Given the description of an element on the screen output the (x, y) to click on. 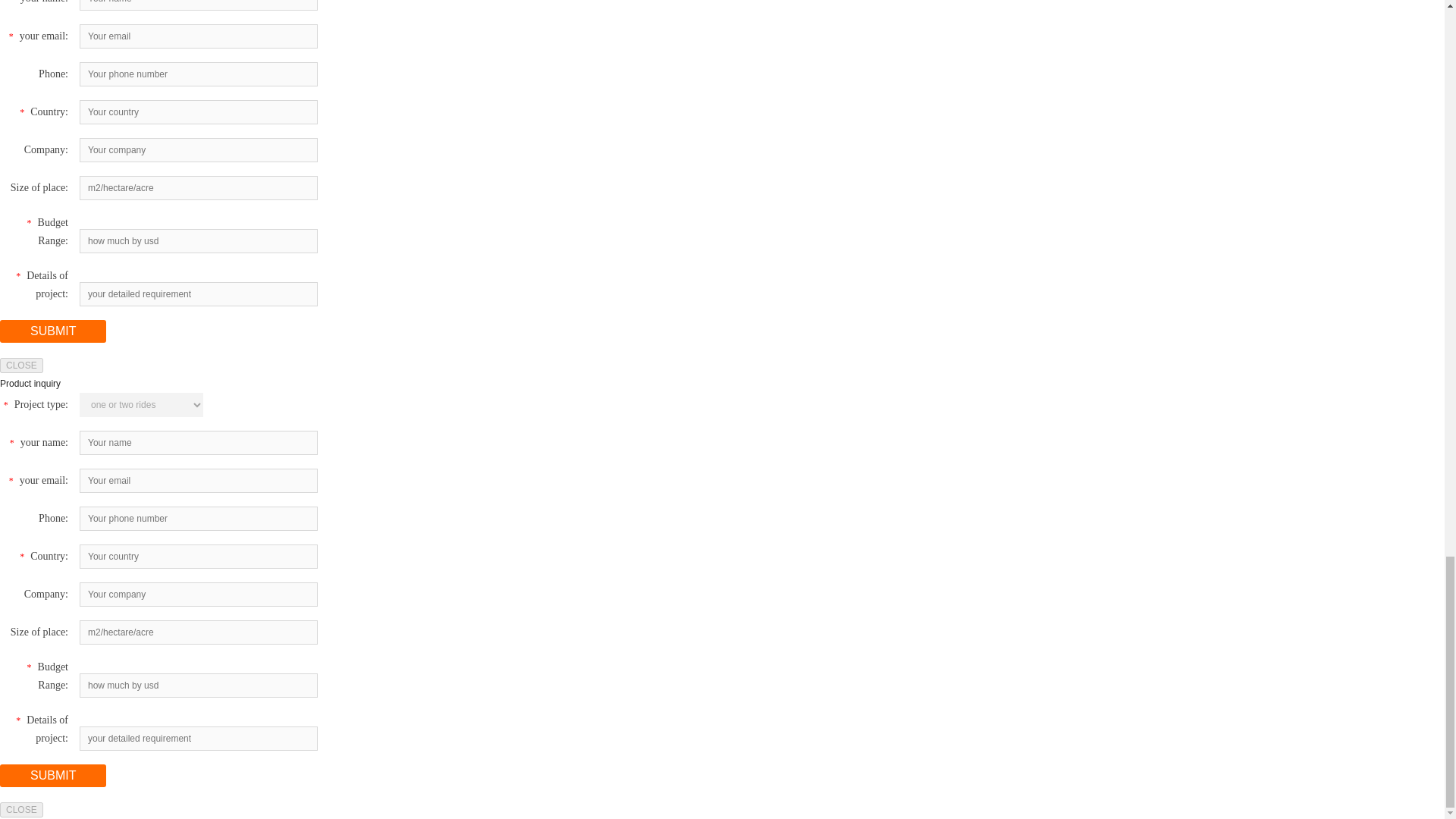
SUBMIT (53, 331)
